Given the description of an element on the screen output the (x, y) to click on. 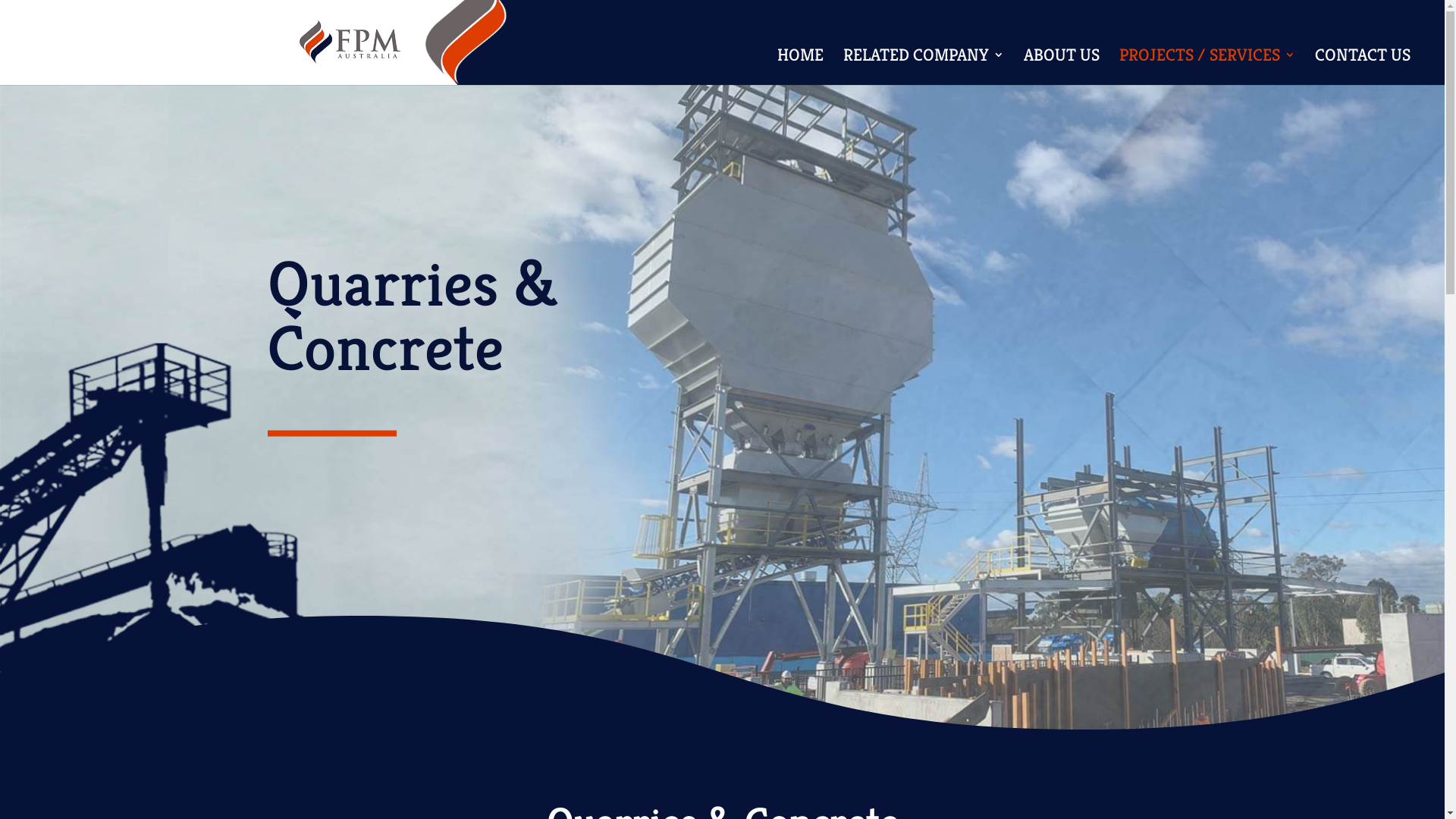
CONTACT US Element type: text (1362, 66)
PROJECTS / SERVICES Element type: text (1207, 66)
RELATED COMPANY Element type: text (923, 66)
ABOUT US Element type: text (1061, 66)
HOME Element type: text (800, 66)
